Given the description of an element on the screen output the (x, y) to click on. 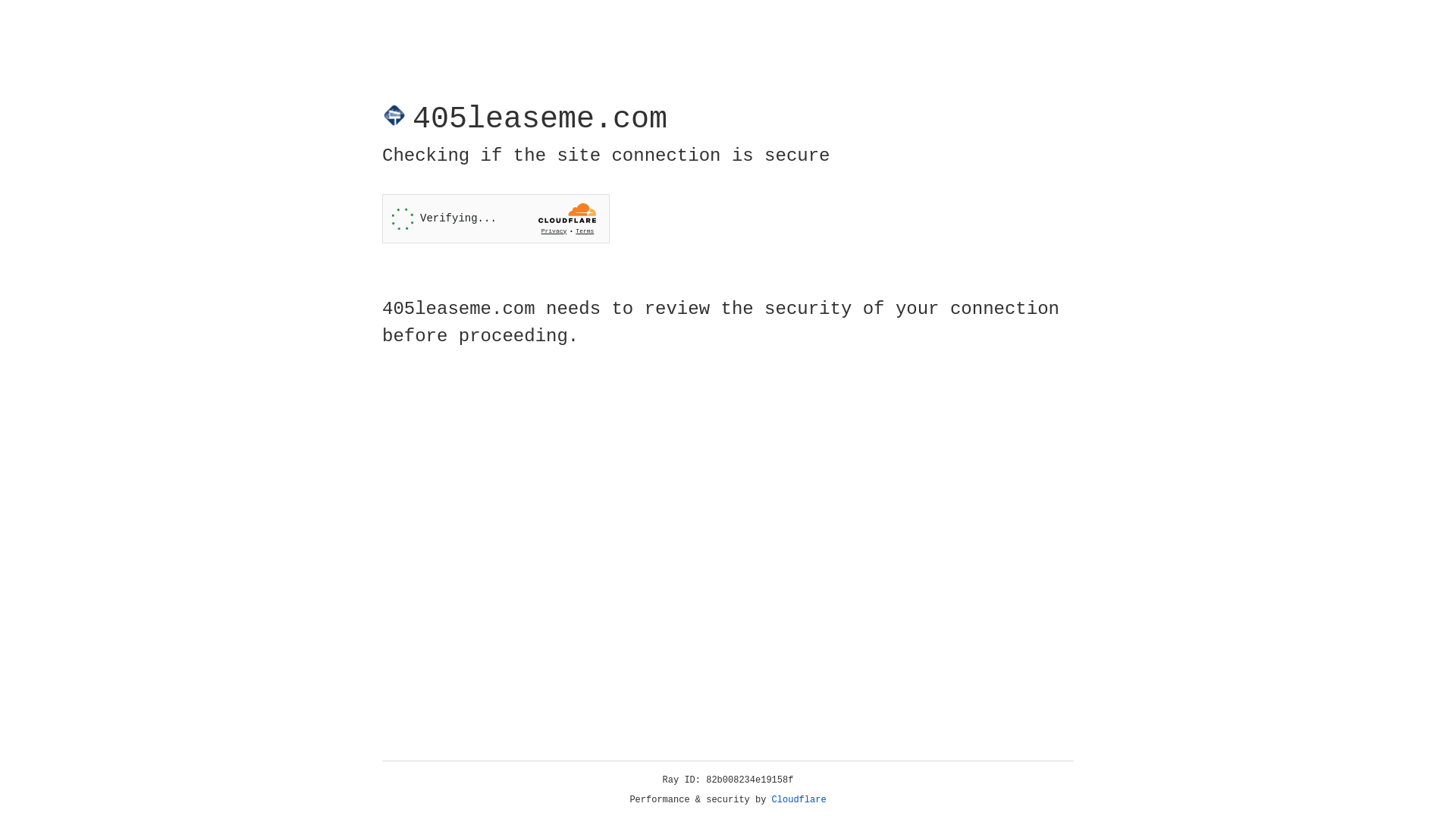
Cloudflare Element type: text (798, 799)
Widget containing a Cloudflare security challenge Element type: hover (495, 218)
